Given the description of an element on the screen output the (x, y) to click on. 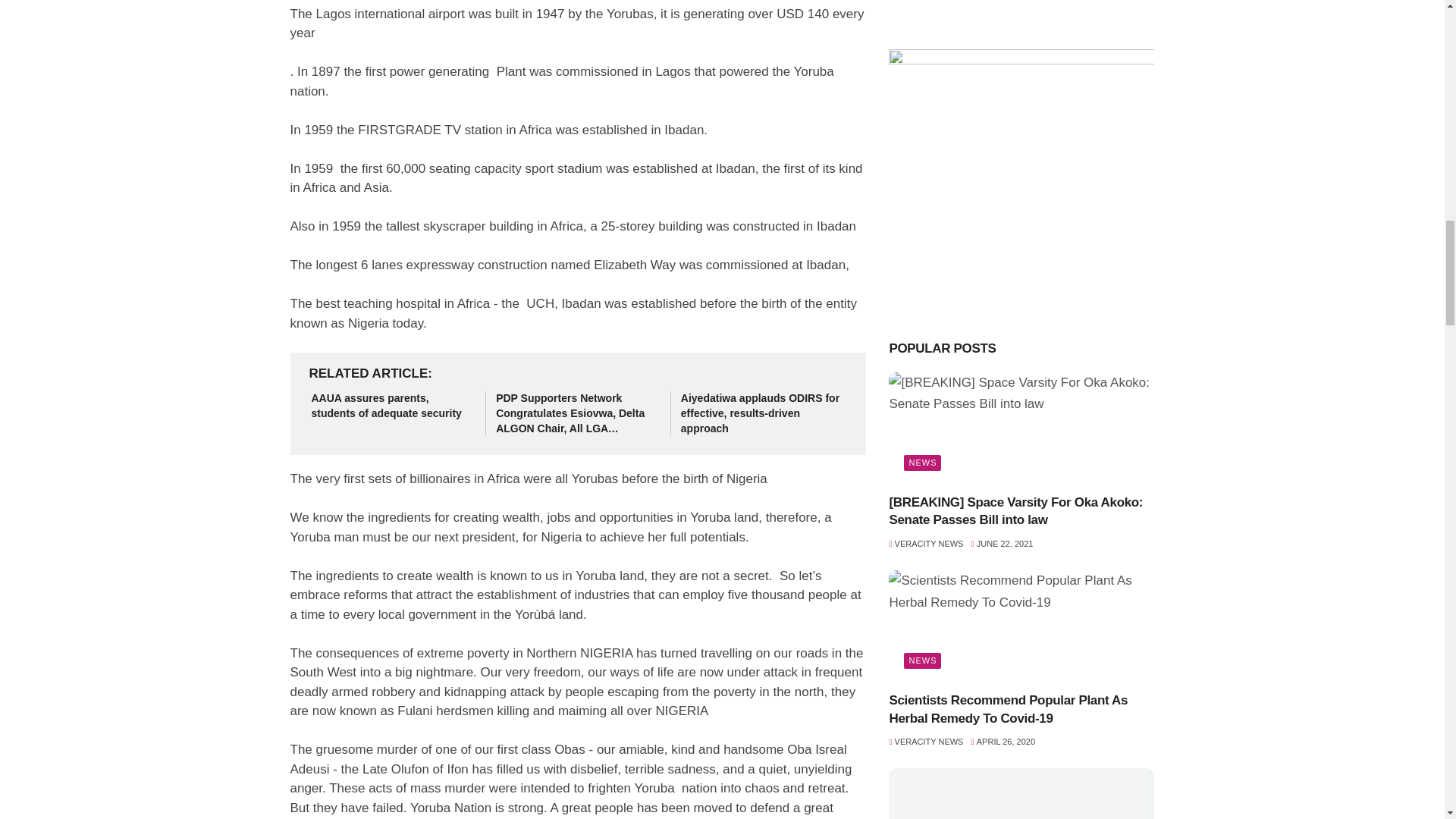
AAUA assures parents, students of adequate security (393, 405)
AAUA assures parents, students of adequate security (393, 405)
